Given the description of an element on the screen output the (x, y) to click on. 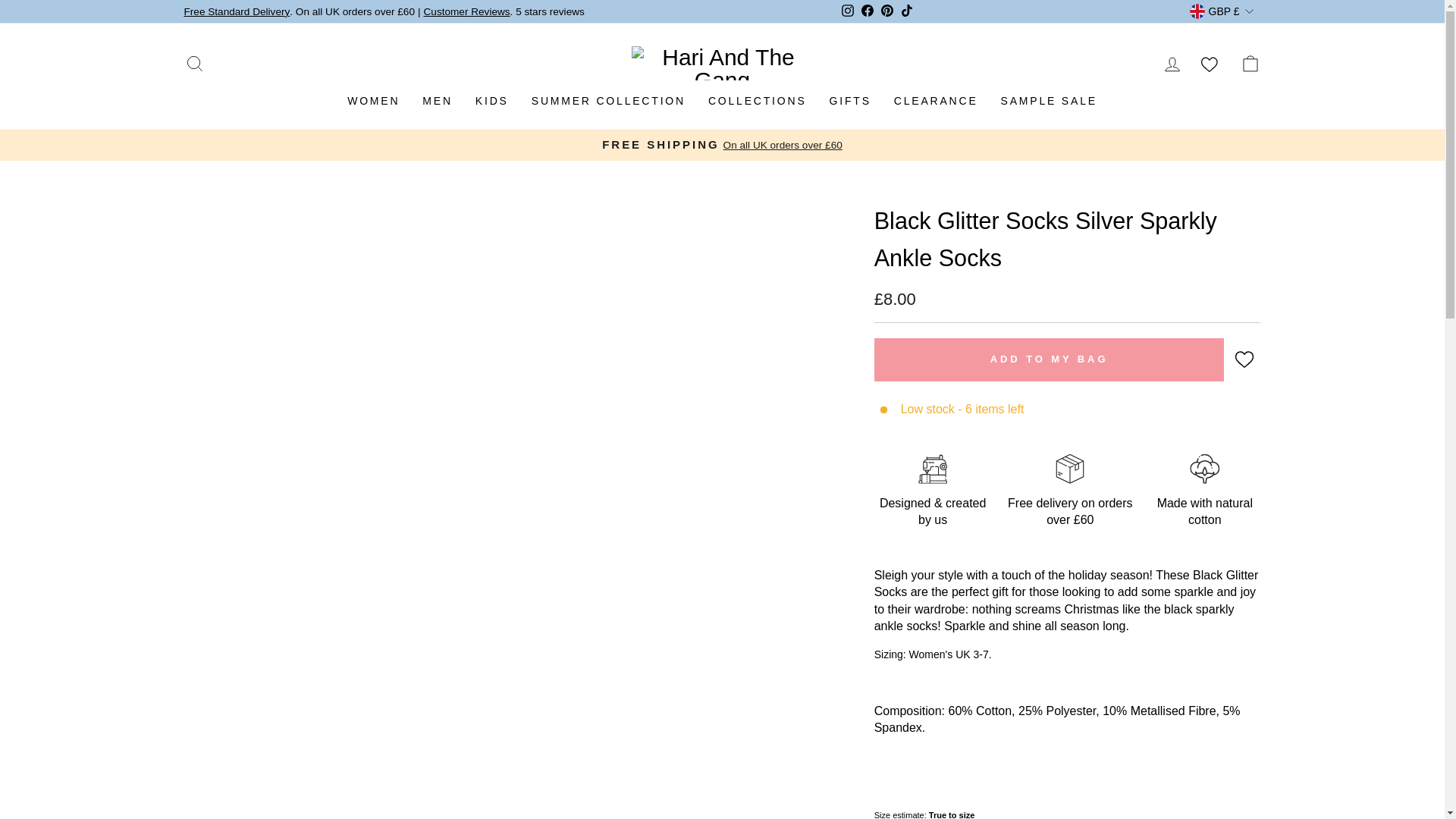
Hari And The Gang on TikTok (906, 11)
Hari And The Gang on Facebook (867, 11)
Hari And The Gang on Instagram (847, 11)
Hari And The Gang on Pinterest (886, 11)
